Given the description of an element on the screen output the (x, y) to click on. 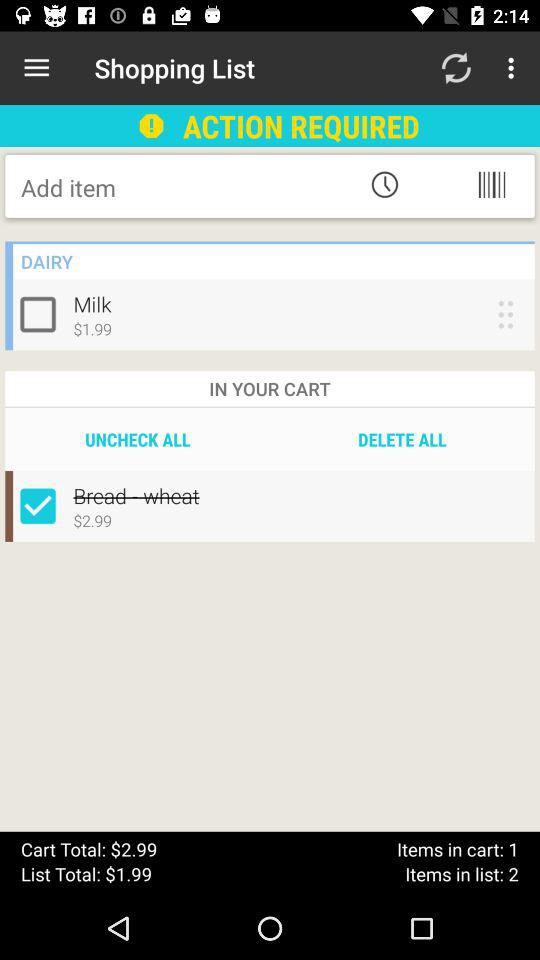
choose item above the items in cart (402, 439)
